Given the description of an element on the screen output the (x, y) to click on. 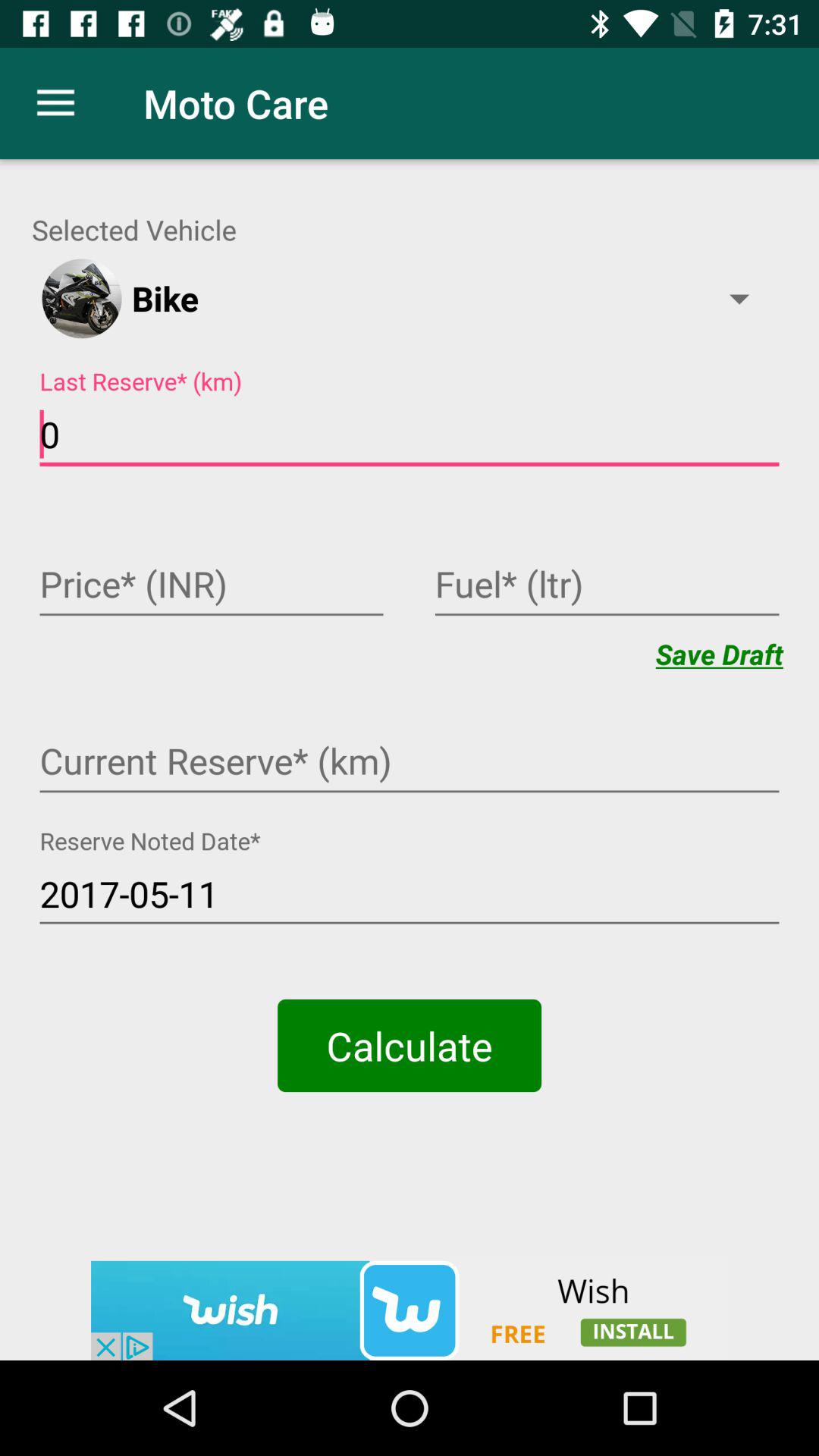
inform the current reserve (409, 763)
